Given the description of an element on the screen output the (x, y) to click on. 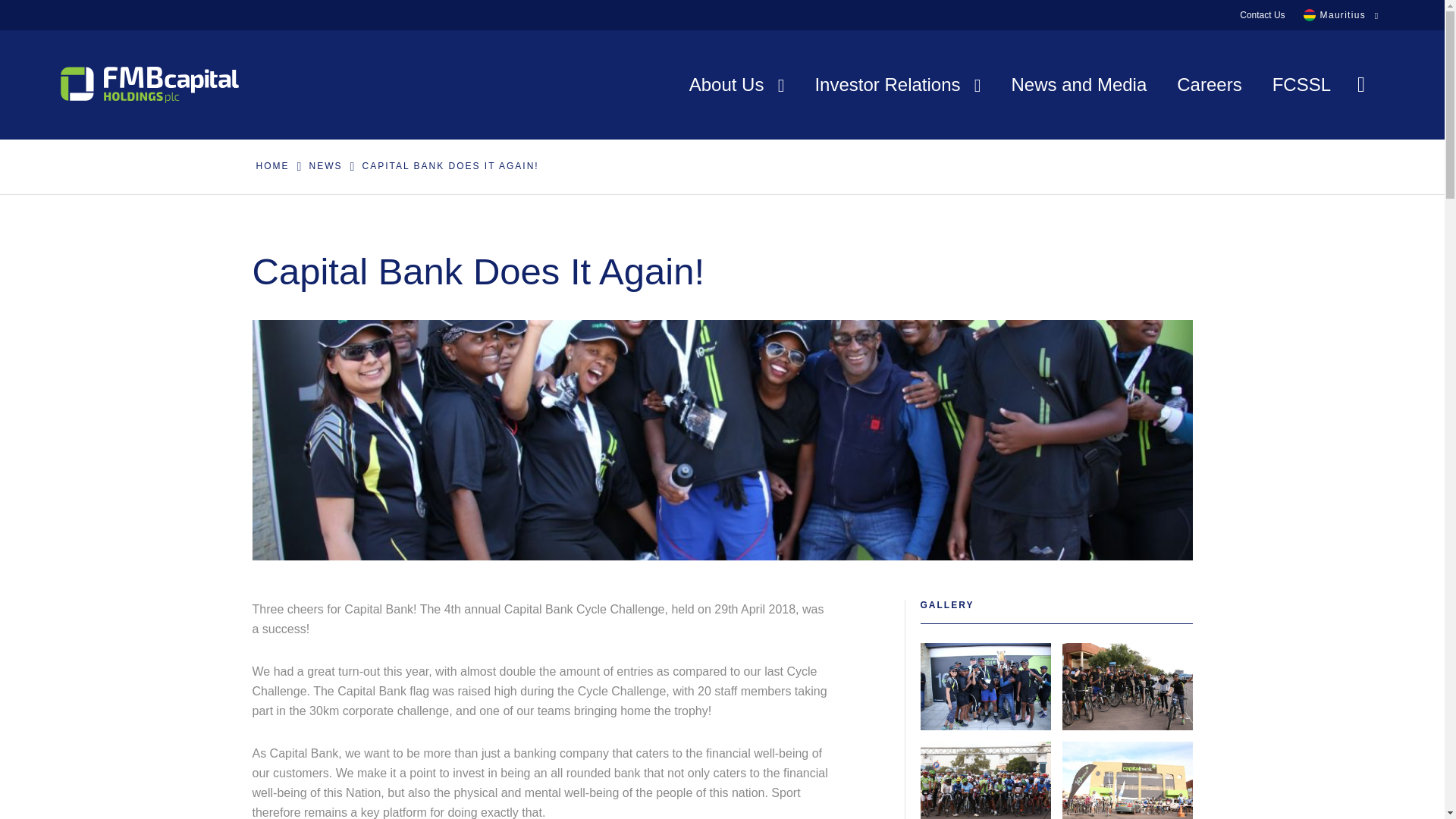
News and Media (1079, 84)
Investor Relations (896, 84)
HOME (271, 166)
Home (271, 166)
Contact Us (1262, 15)
NEWS (325, 166)
Capital Bank Does It Again! (449, 166)
